Given the description of an element on the screen output the (x, y) to click on. 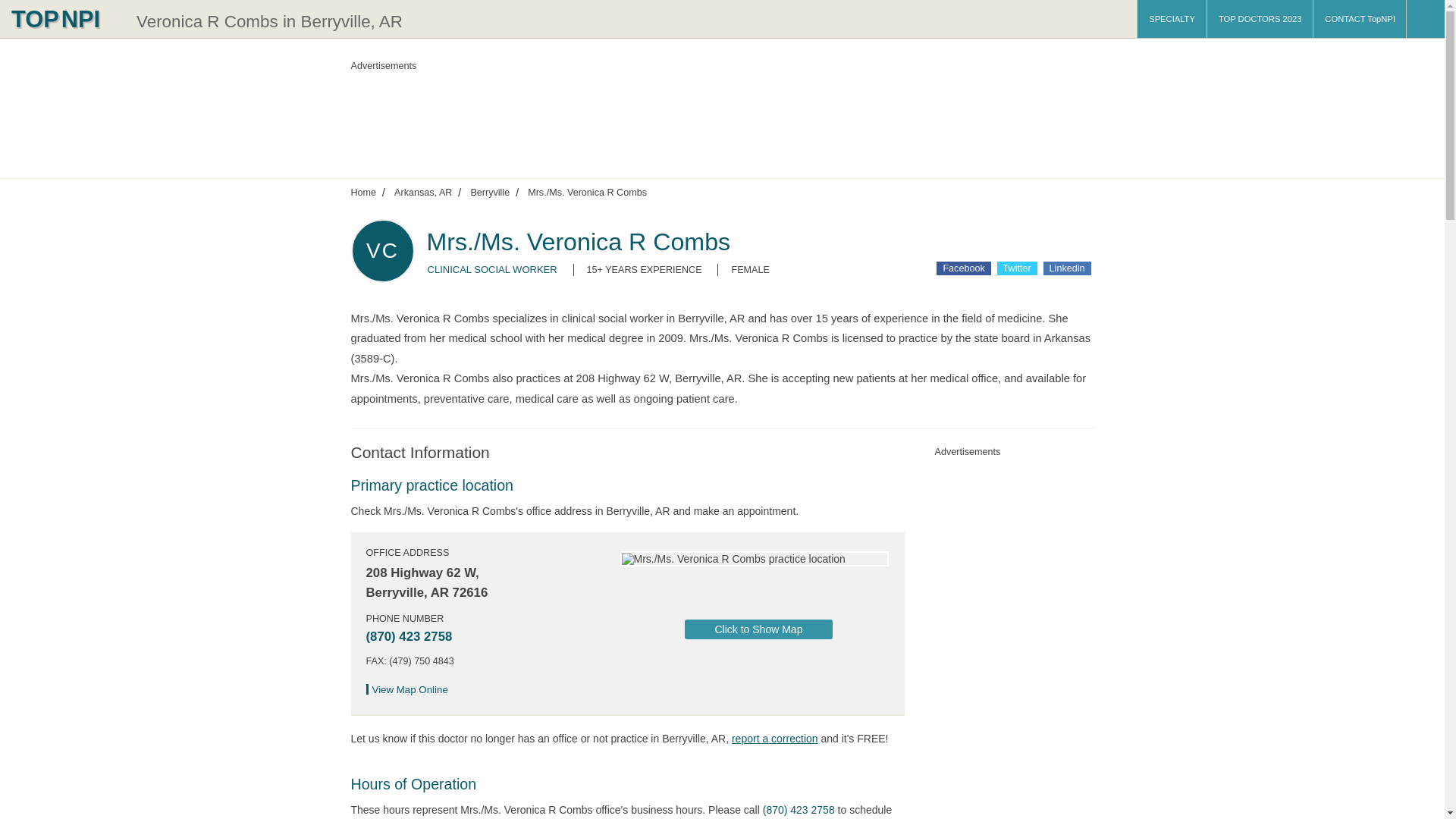
SPECIALTY (1172, 18)
Find doctors by specialty (1172, 18)
View Map Online (411, 689)
NPI lookup (64, 18)
Veronica R Combs in Berryville, AR (269, 21)
Arkansas, AR (422, 191)
Veronica R Combs in Berryville, AR (269, 21)
Home (362, 191)
Twitter (1016, 268)
CLINICAL SOCIAL WORKER (492, 269)
Clinical Social Worker (492, 269)
report a correction (775, 738)
Facebook (963, 268)
TOPNPI (64, 18)
Update practice location (775, 738)
